Given the description of an element on the screen output the (x, y) to click on. 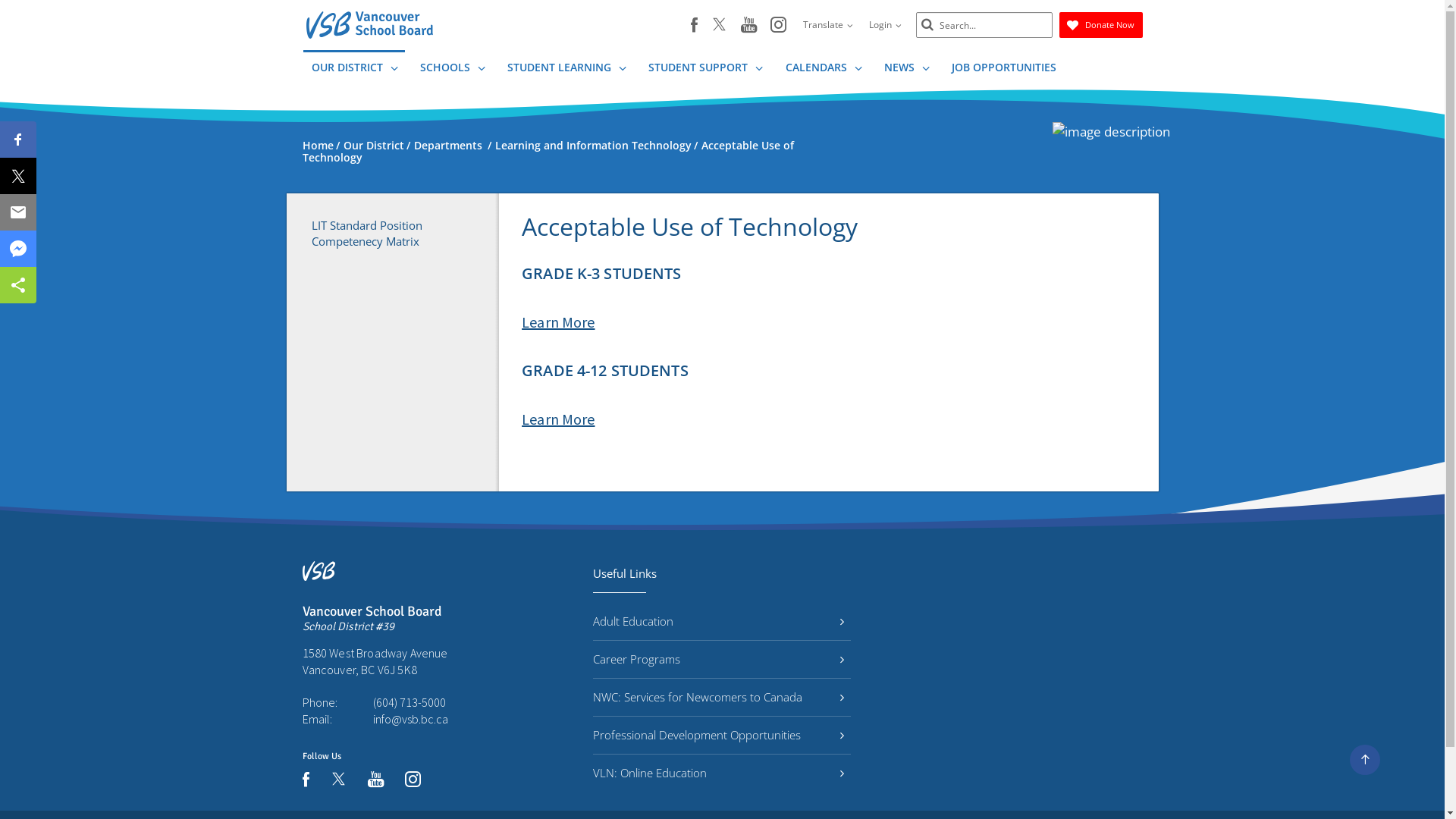
STUDENT LEARNING Element type: text (565, 69)
Login Element type: text (884, 24)
Donate Now Element type: text (1100, 24)
NWC: Services for Newcomers to Canada Element type: text (721, 696)
Go to top Element type: text (1364, 759)
GRADE 4-12 STUDENTS Element type: text (604, 370)
Adult Education Element type: text (721, 621)
Translate Element type: text (827, 24)
Learn More Element type: text (557, 321)
Our District Element type: text (372, 145)
Submit Element type: text (926, 24)
(604) 713-5000 Element type: text (409, 701)
youtube Element type: text (748, 25)
STUDENT SUPPORT Element type: text (704, 69)
Professional Development Opportunities Element type: text (721, 734)
facebook Element type: text (304, 779)
OUR DISTRICT Element type: text (353, 69)
Learning and Information Technology Element type: text (592, 145)
SCHOOLS Element type: text (451, 69)
info@vsb.bc.ca Element type: text (410, 718)
JOB OPPORTUNITIES Element type: text (1003, 69)
CALENDARS Element type: text (823, 69)
Learn More Element type: text (557, 418)
instagram Element type: text (778, 25)
Acceptable Use of Technology Element type: text (547, 151)
instagram Element type: text (412, 779)
facebook Element type: text (693, 24)
Career Programs Element type: text (721, 658)
Departments Element type: text (449, 145)
youtube Element type: text (374, 779)
NEWS Element type: text (905, 69)
Home Element type: text (316, 145)
LIT Standard Position Competenecy Matrix Element type: text (393, 233)
GRADE K-3 STUDENTS Element type: text (601, 273)
VLN: Online Education Element type: text (721, 772)
